Given the description of an element on the screen output the (x, y) to click on. 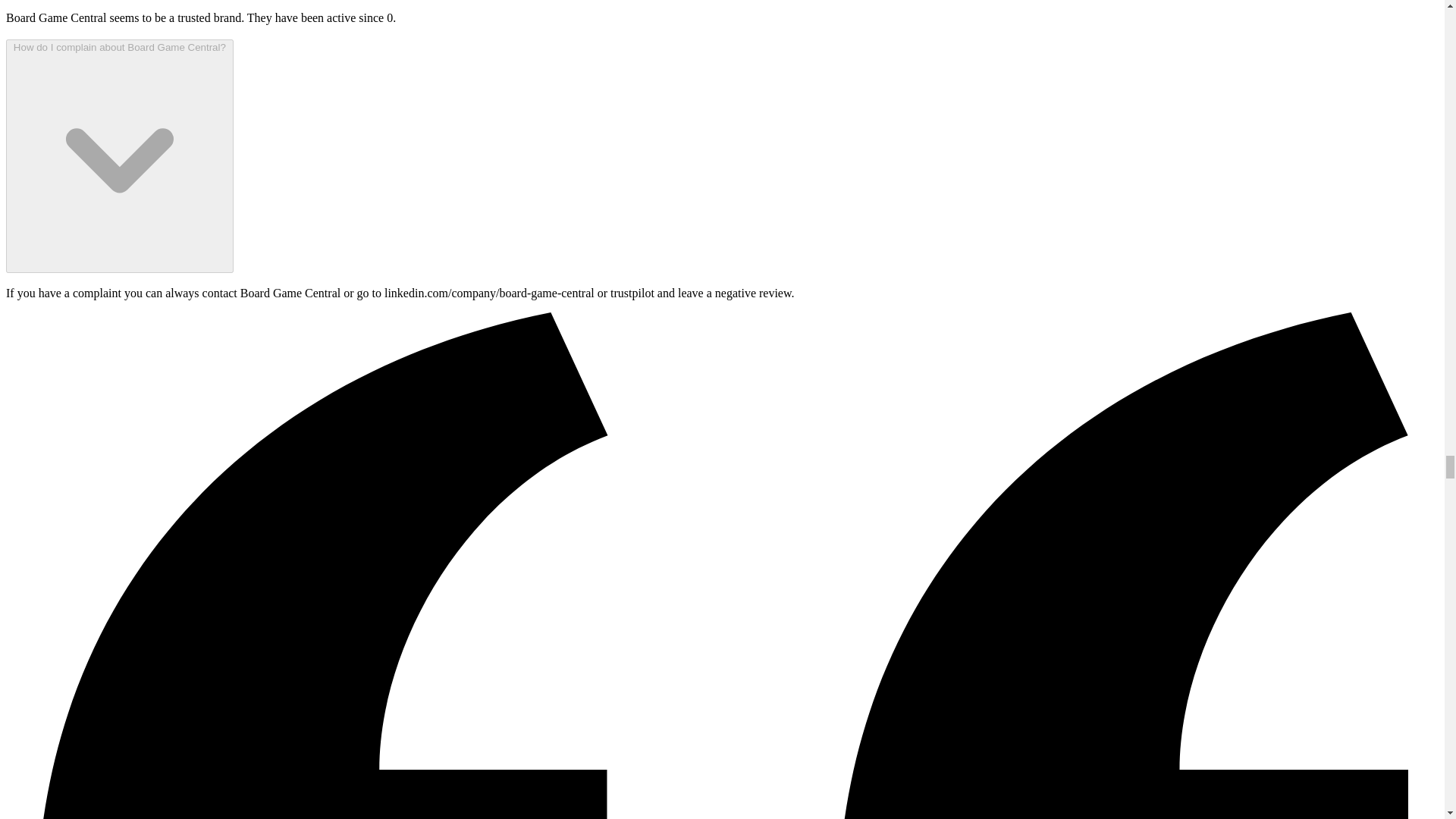
How do I complain about Board Game Central? (118, 155)
